Given the description of an element on the screen output the (x, y) to click on. 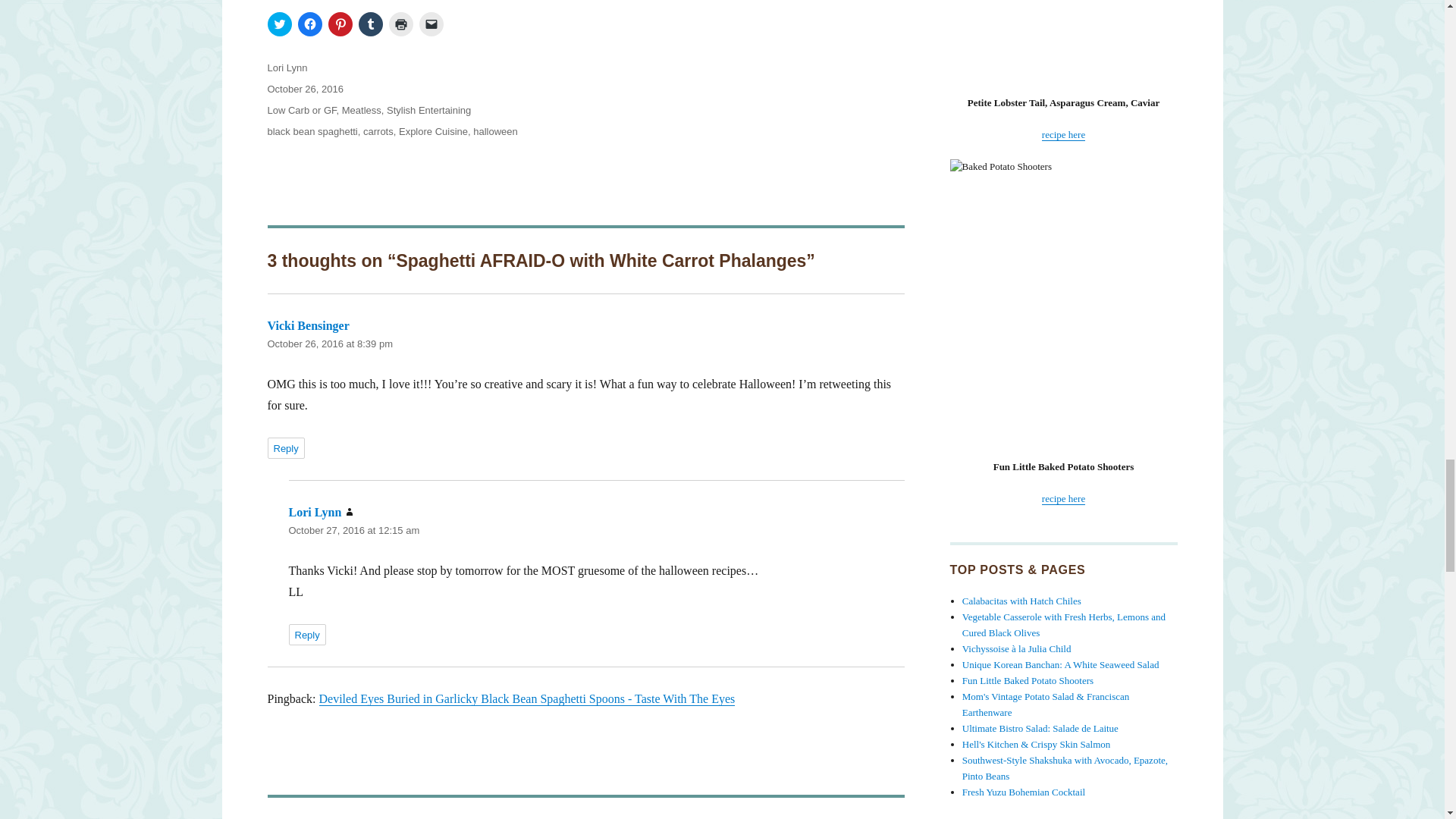
Explore Cuisine (432, 131)
Reply (306, 634)
Stylish Entertaining (428, 110)
halloween (495, 131)
black bean spaghetti (311, 131)
Reply (285, 447)
Click to share on Pinterest (339, 24)
Low Carb or GF (301, 110)
Vicki Bensinger (307, 325)
Click to print (400, 24)
